Given the description of an element on the screen output the (x, y) to click on. 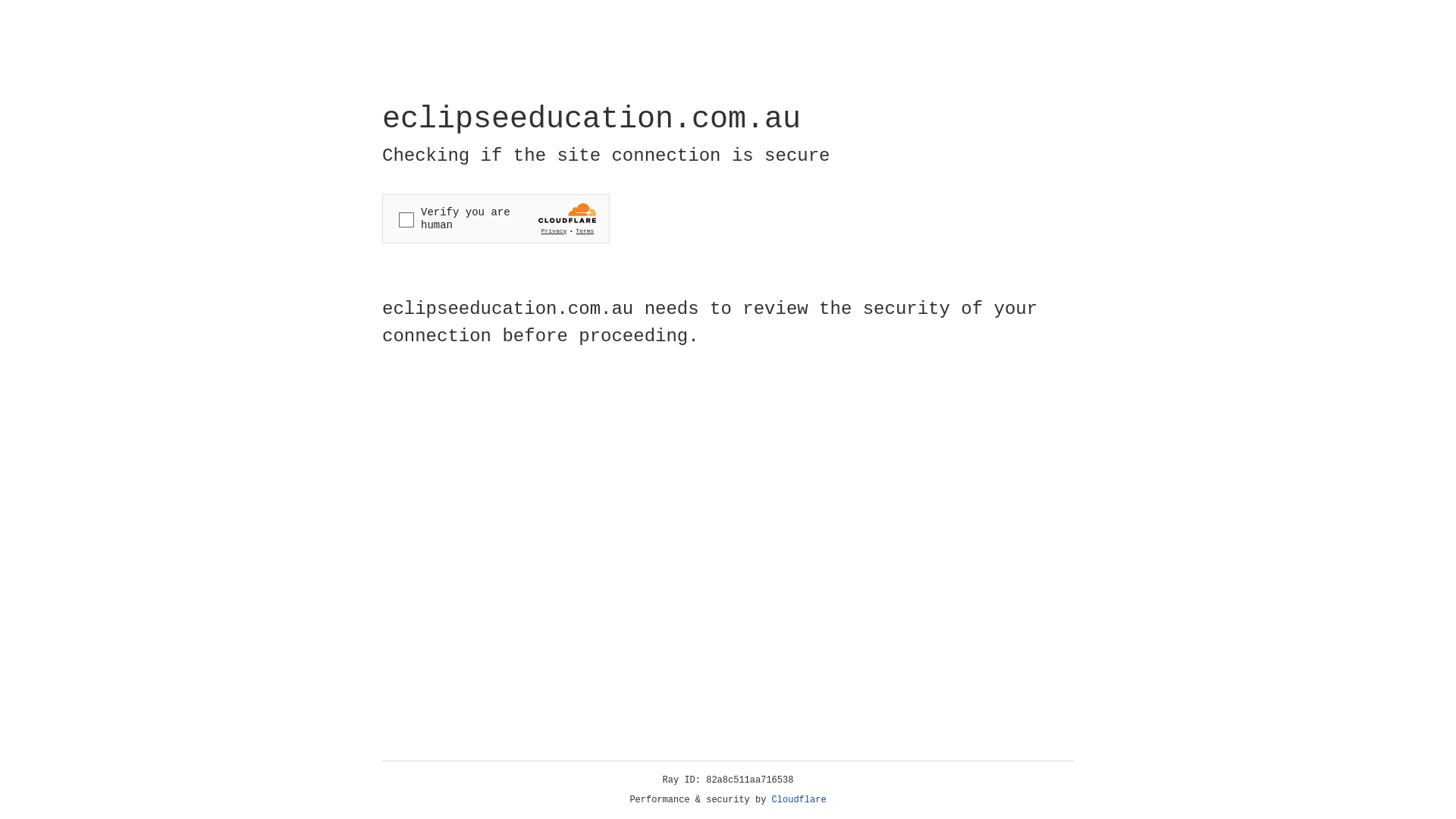
Cloudflare Element type: text (798, 799)
Widget containing a Cloudflare security challenge Element type: hover (495, 218)
